Given the description of an element on the screen output the (x, y) to click on. 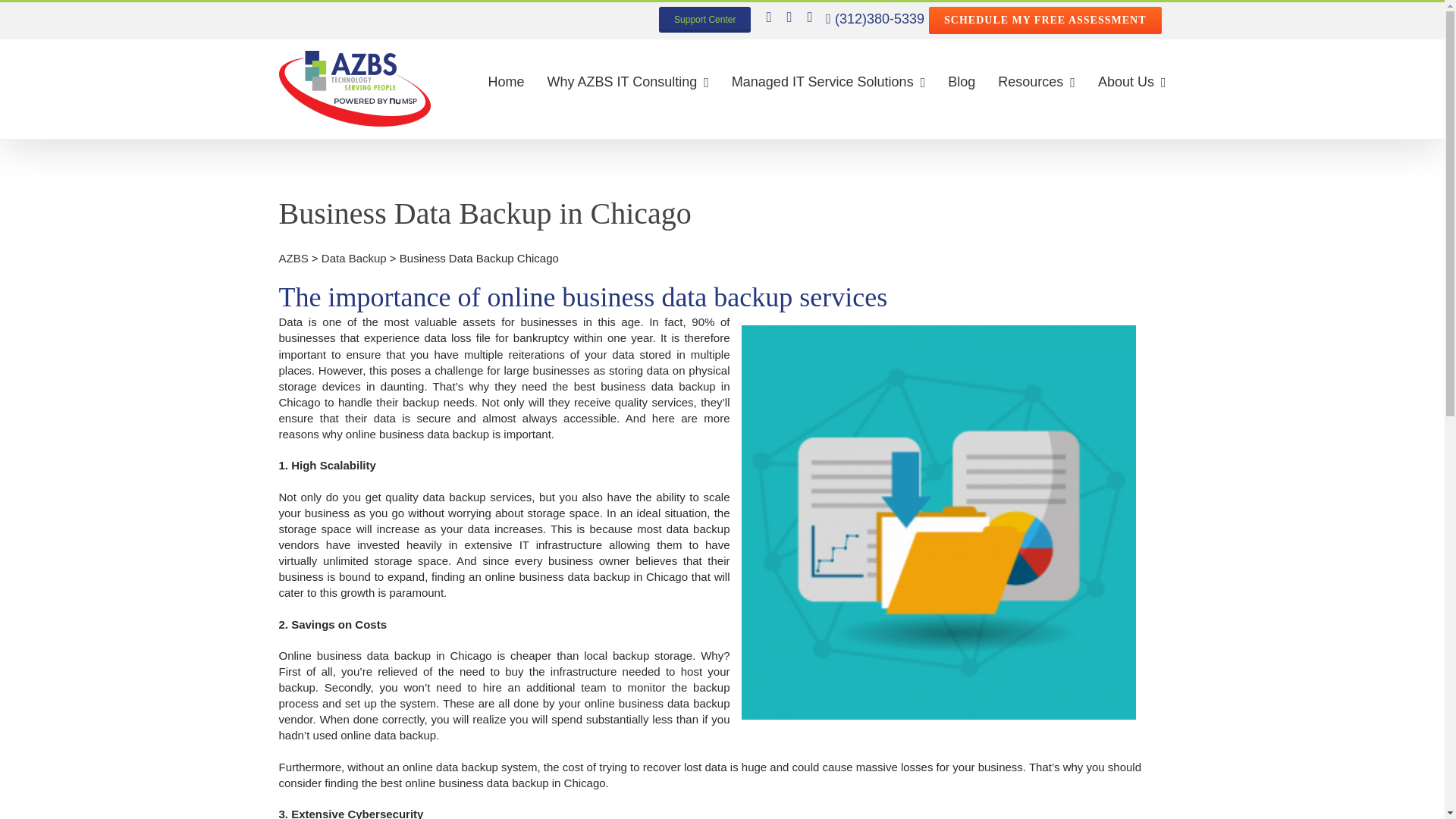
Managed IT Service Solutions (828, 81)
Resources (1036, 81)
Why AZBS IT Consulting (628, 81)
Support Center (705, 19)
SCHEDULE MY FREE ASSESSMENT (1044, 20)
